Given the description of an element on the screen output the (x, y) to click on. 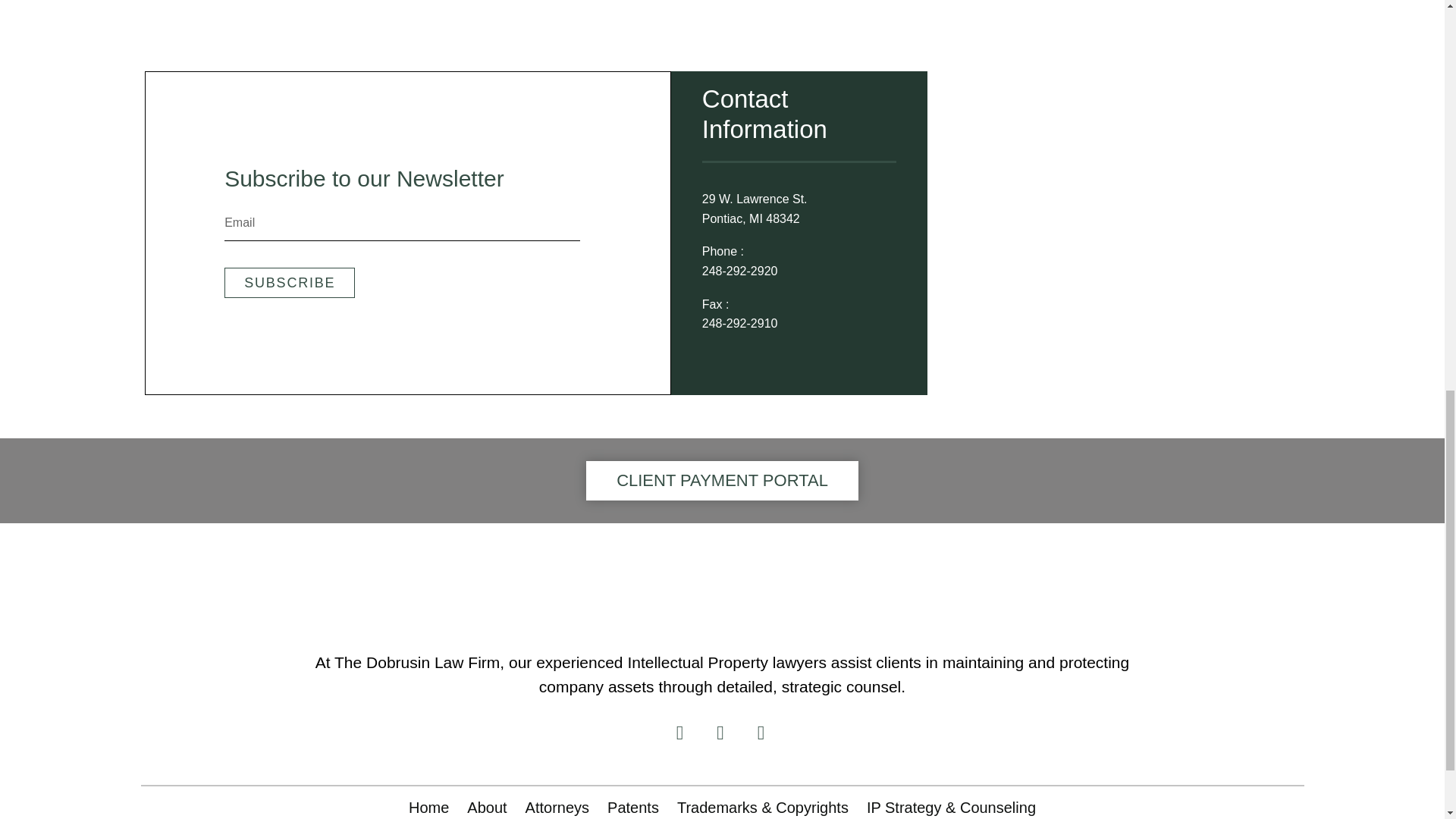
CLIENT PAYMENT PORTAL (722, 480)
SUBSCRIBE (289, 282)
29 W. Lawrence St. Pontiac, MI 48342 (767, 208)
248-292-2920 (739, 271)
248-292-2910 (739, 323)
